Given the description of an element on the screen output the (x, y) to click on. 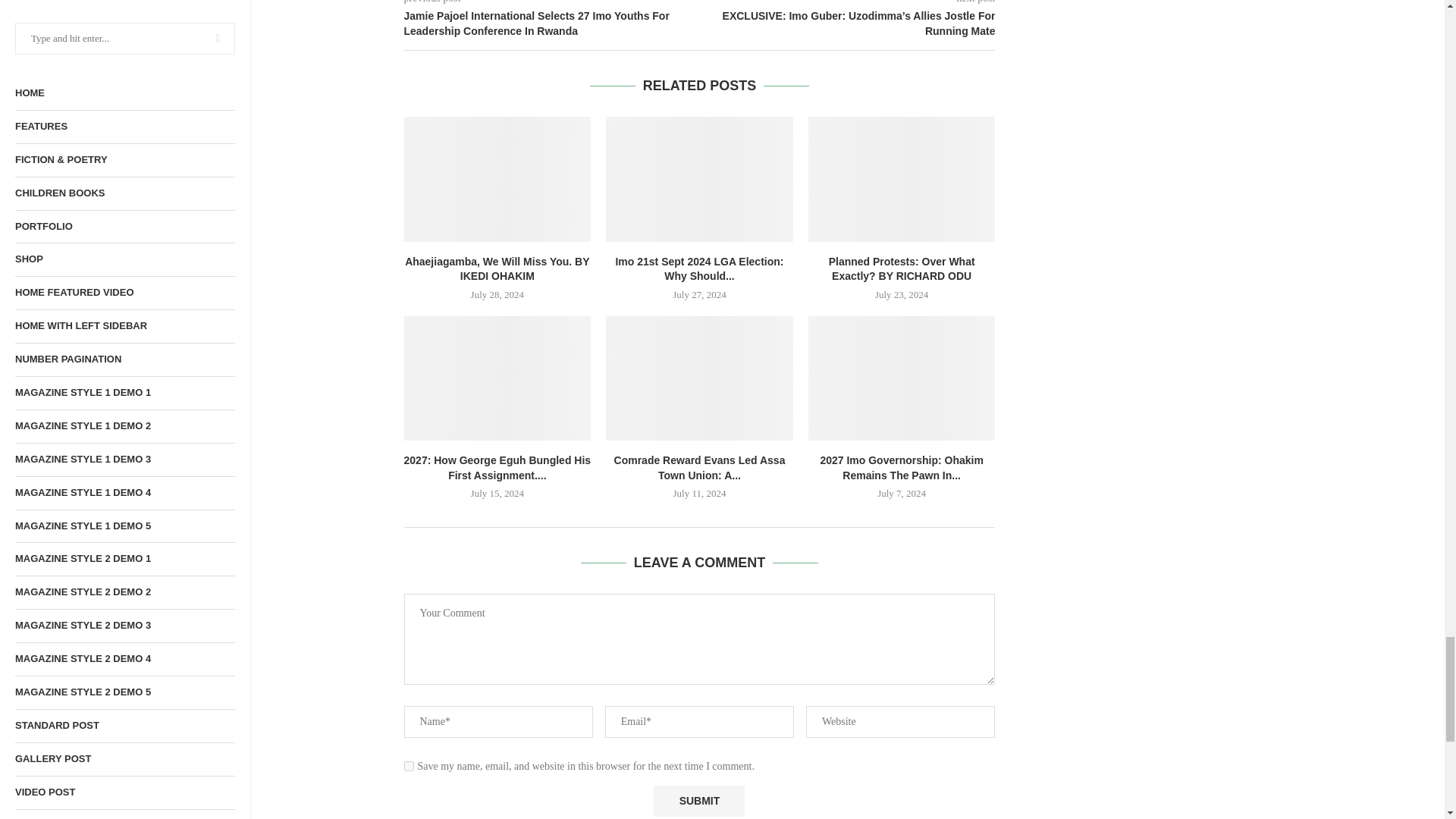
yes (408, 766)
Submit (698, 800)
